Given the description of an element on the screen output the (x, y) to click on. 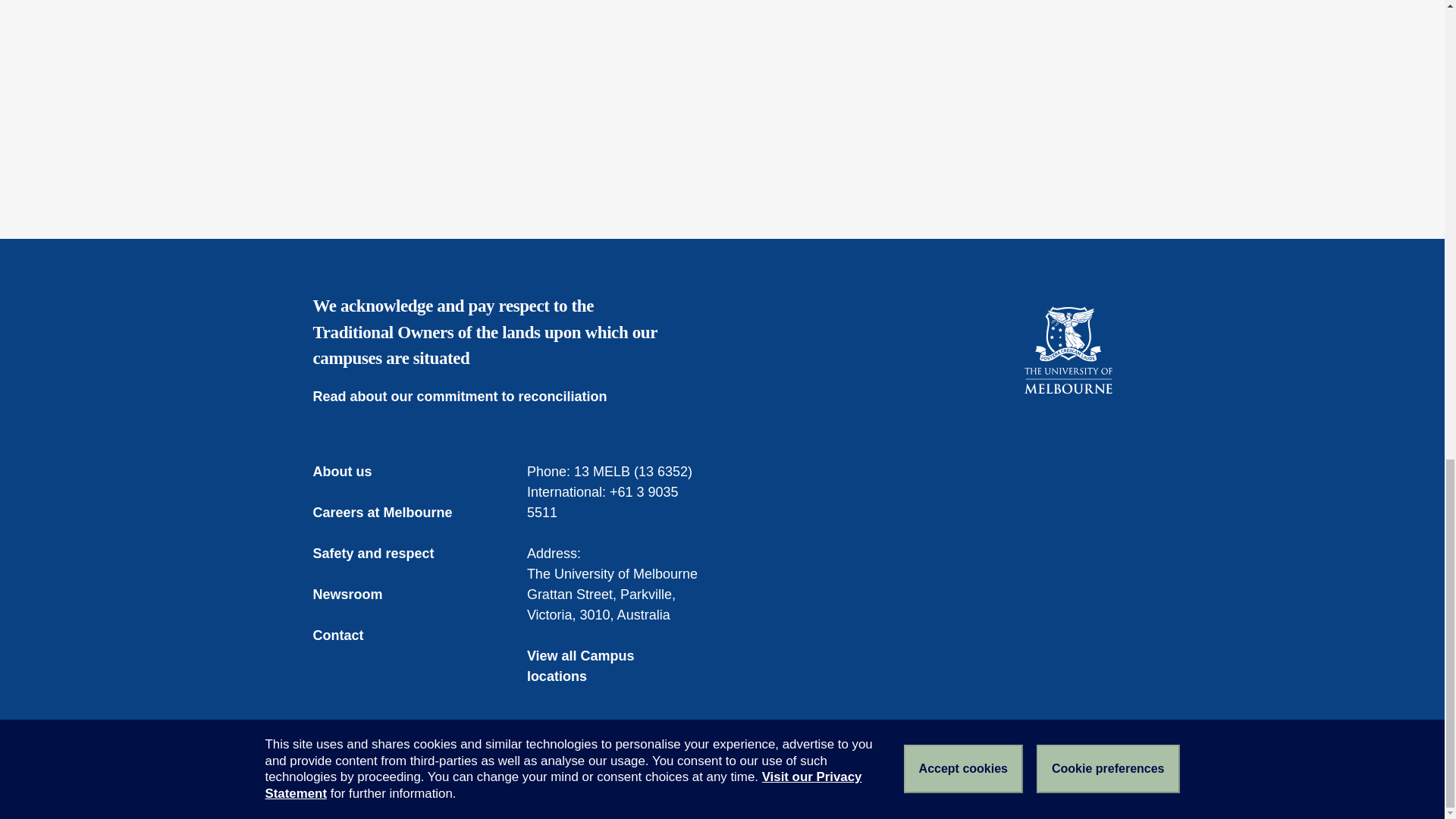
View all Campus locations (615, 666)
Newsroom (358, 594)
About us (353, 471)
Contact (349, 635)
Read about our commitment to reconciliation (470, 396)
Safety and respect (384, 553)
Careers at Melbourne (393, 512)
